Given the description of an element on the screen output the (x, y) to click on. 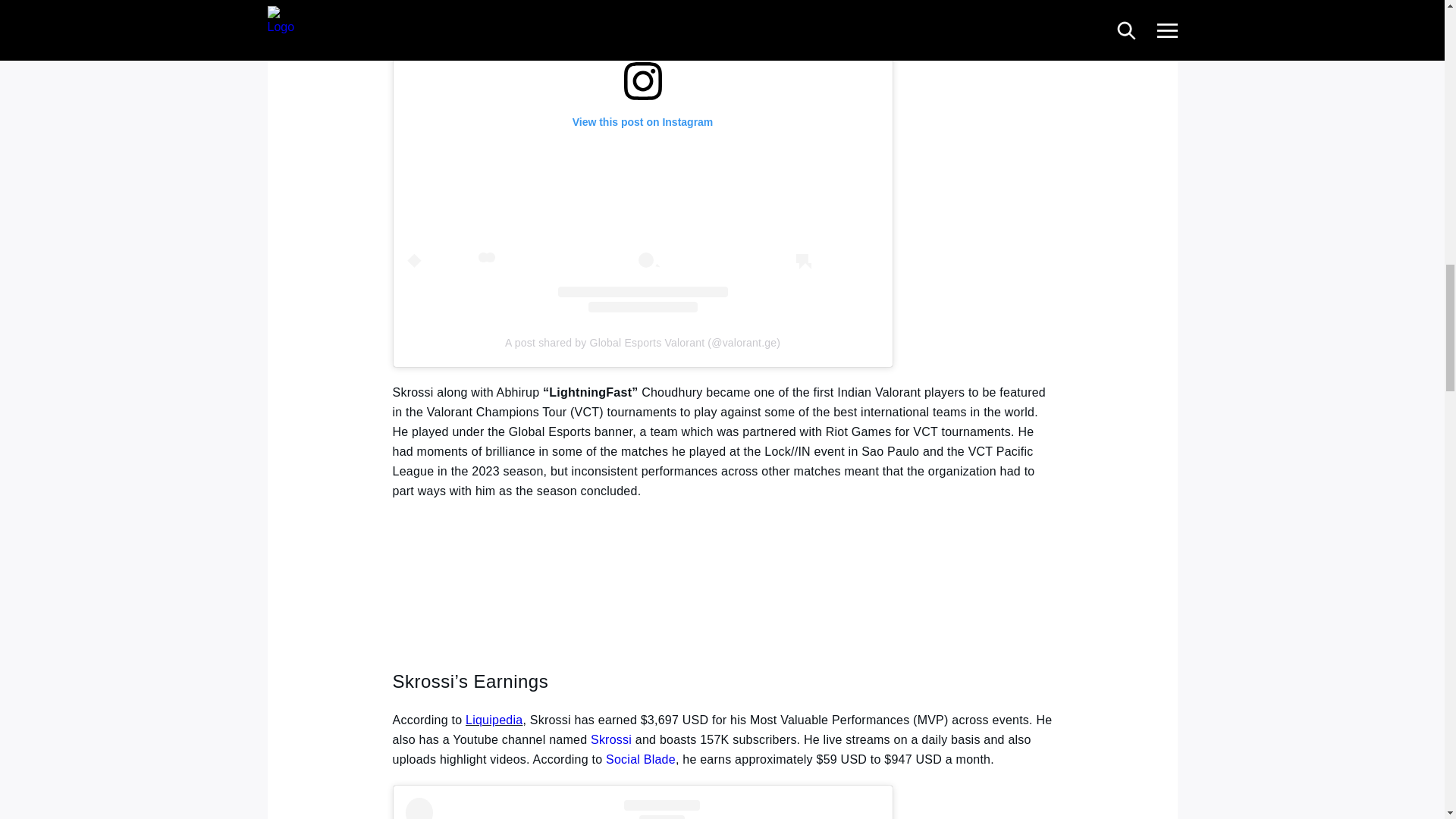
Liquipedia (493, 719)
Social Blade (640, 758)
Skrossi (611, 739)
View this post on Instagram (641, 808)
